Given the description of an element on the screen output the (x, y) to click on. 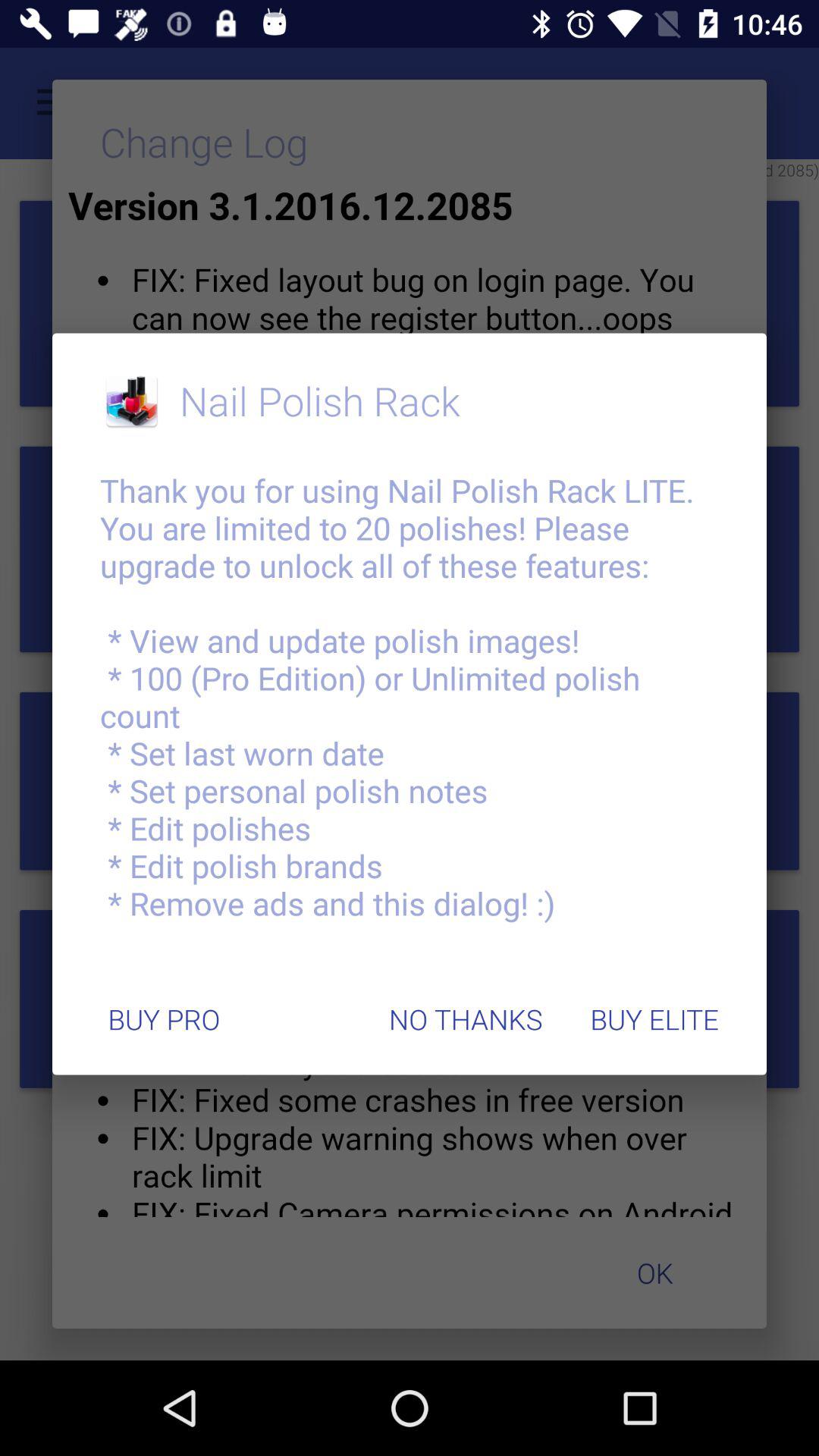
launch icon next to the no thanks item (163, 1018)
